Given the description of an element on the screen output the (x, y) to click on. 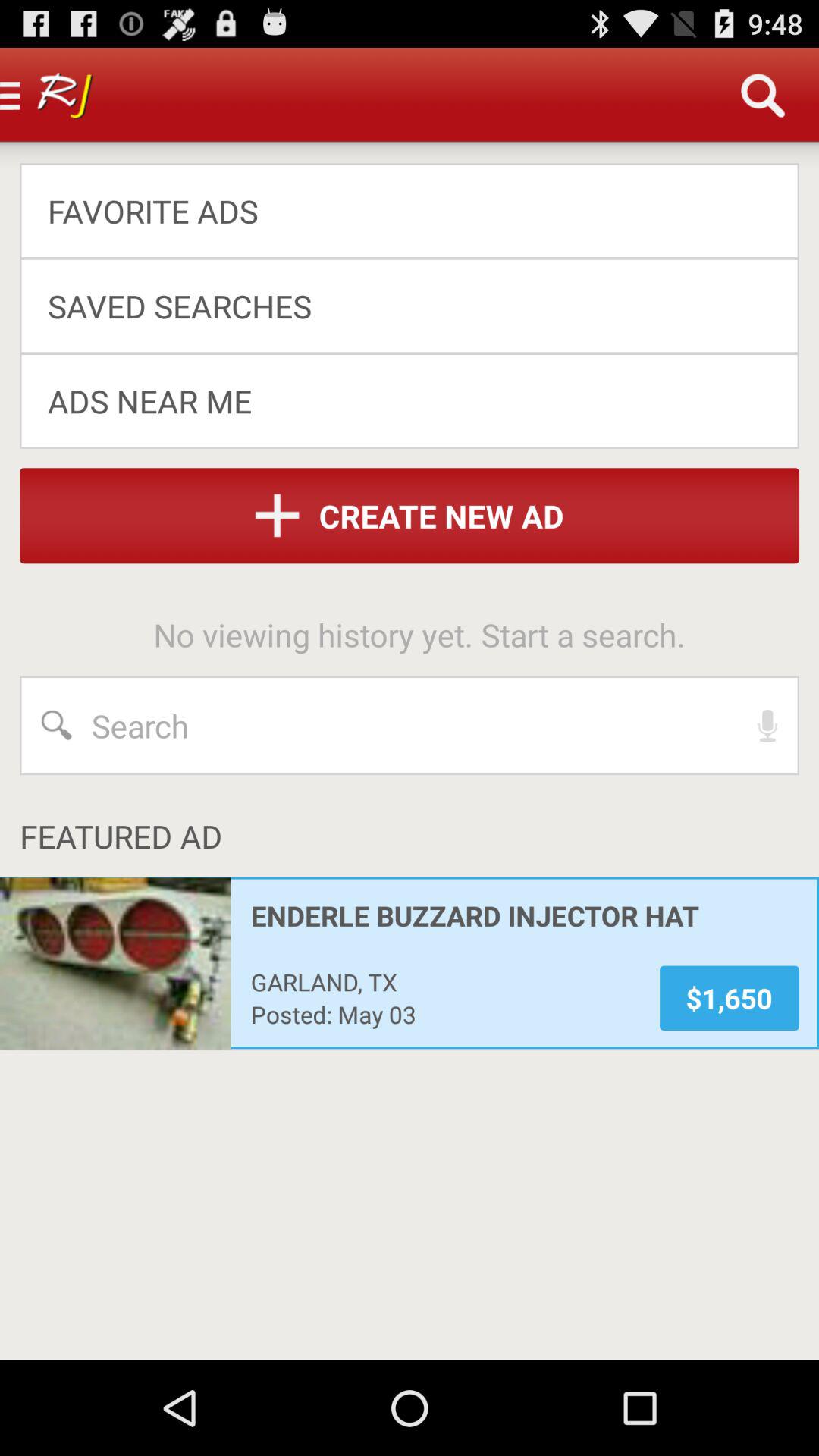
launch the ads near me item (399, 400)
